Given the description of an element on the screen output the (x, y) to click on. 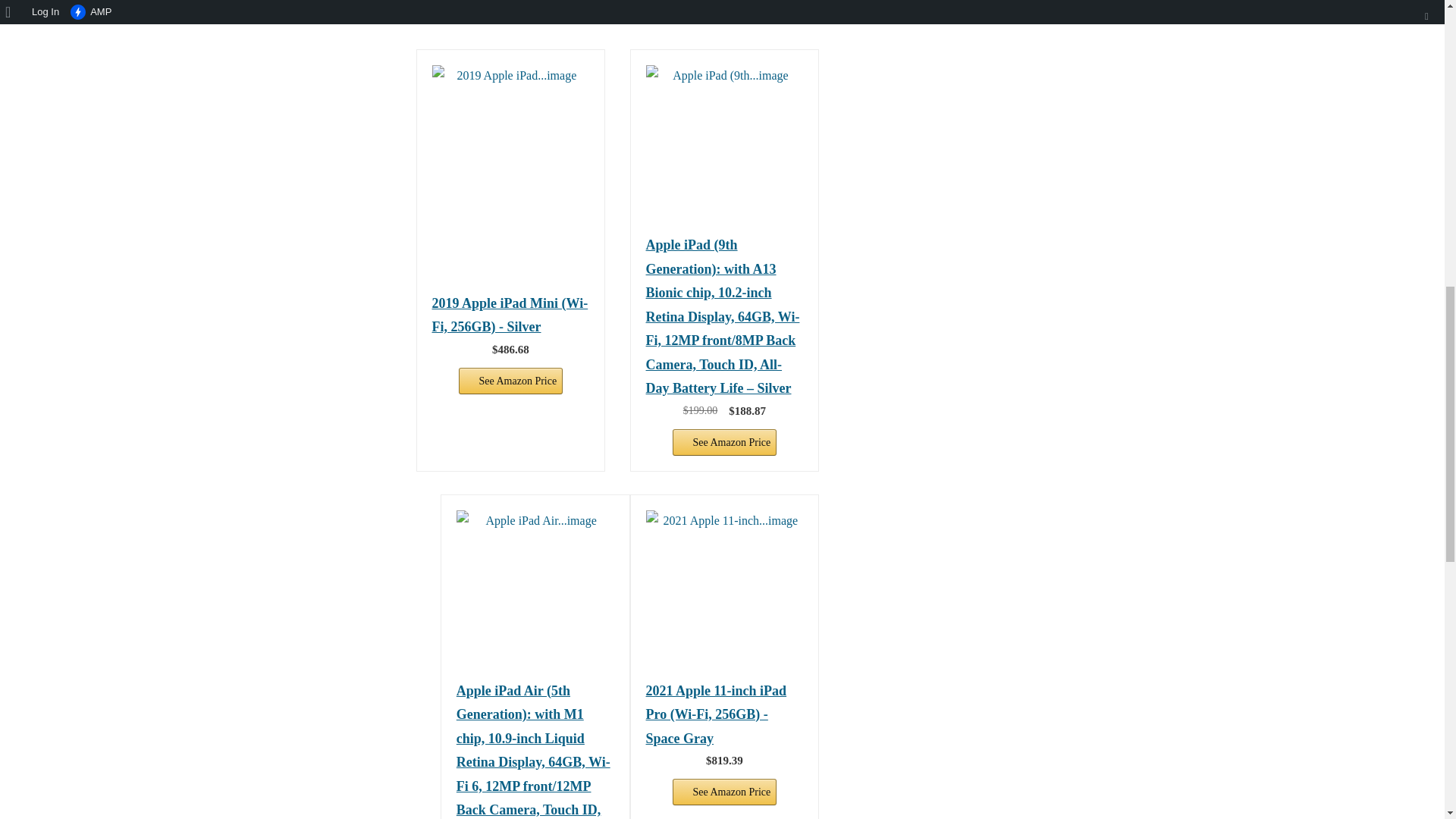
See Amazon Price (724, 442)
The iPad Mini 5 (724, 589)
The iPad Mini 3 (724, 143)
The iPad Mini 4 (535, 589)
See Amazon Price (510, 380)
See Amazon Price (724, 791)
